Given the description of an element on the screen output the (x, y) to click on. 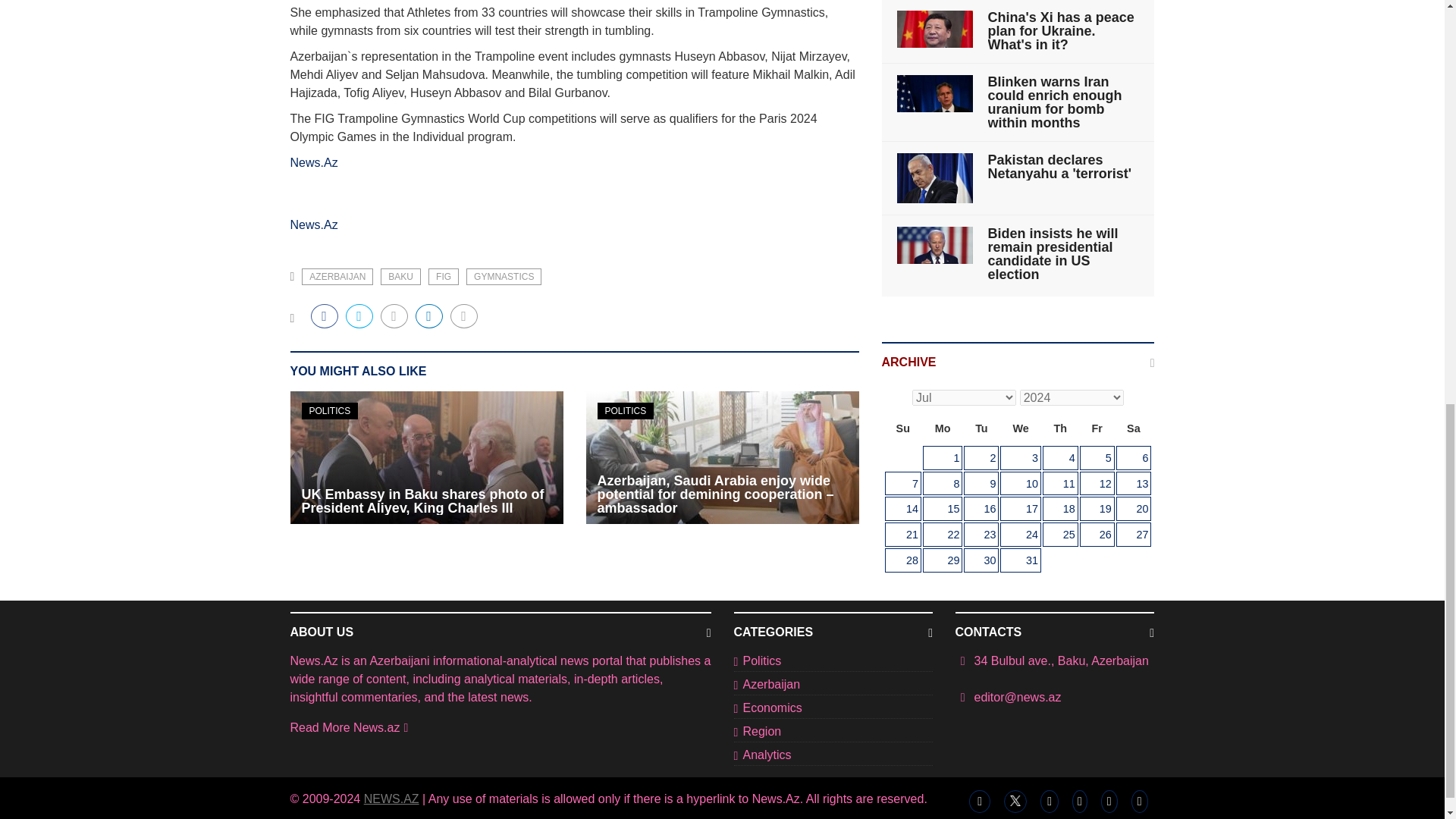
News.Az (313, 224)
FIG (443, 276)
GYMNASTICS (503, 276)
News.Az (313, 162)
AZERBAIJAN (336, 276)
Share news on Twitter (359, 315)
BAKU (400, 276)
Share news on Facebook (324, 315)
